Given the description of an element on the screen output the (x, y) to click on. 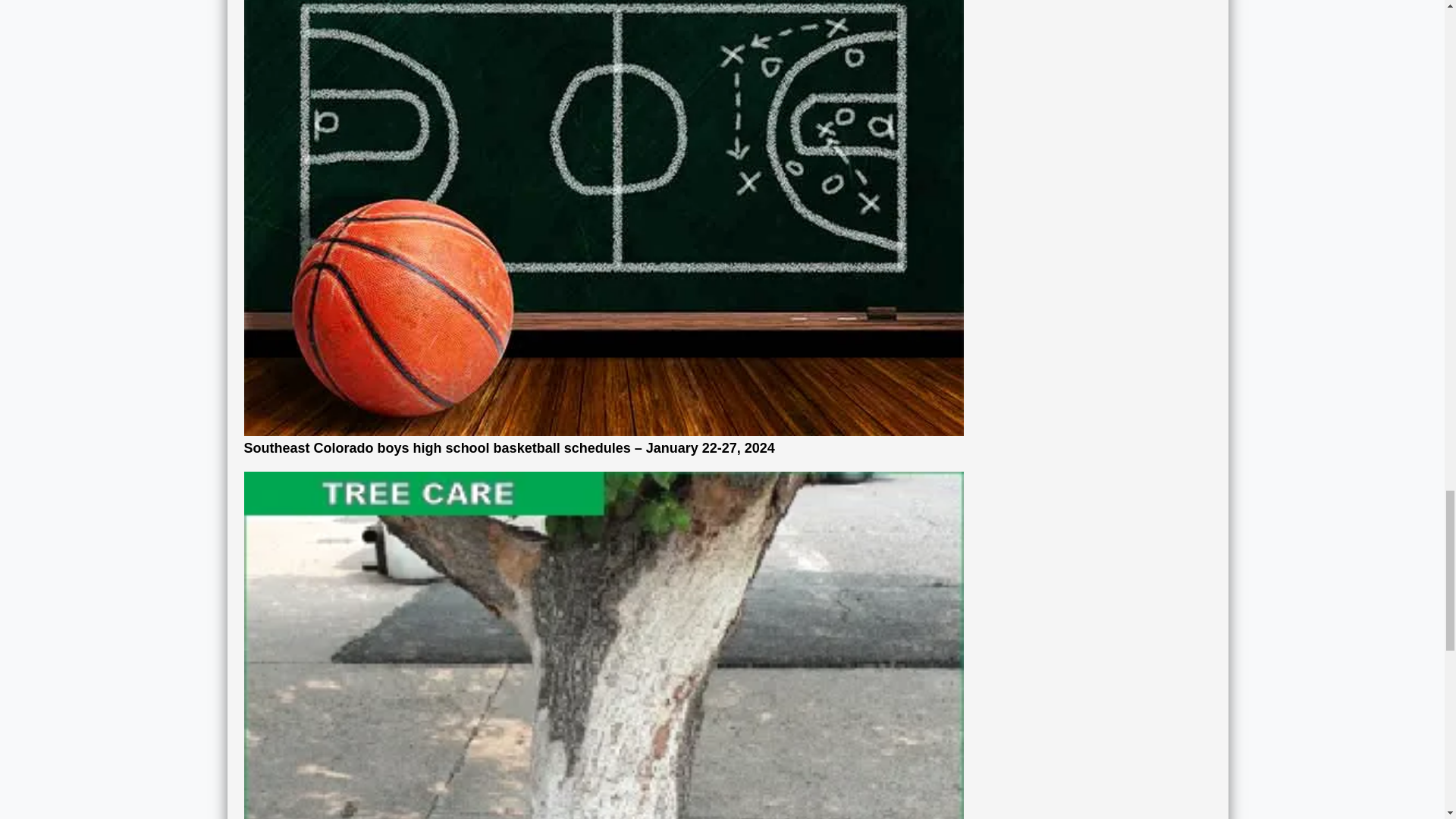
Decay Can Cause Hazardous Defects in Trees (603, 760)
